Given the description of an element on the screen output the (x, y) to click on. 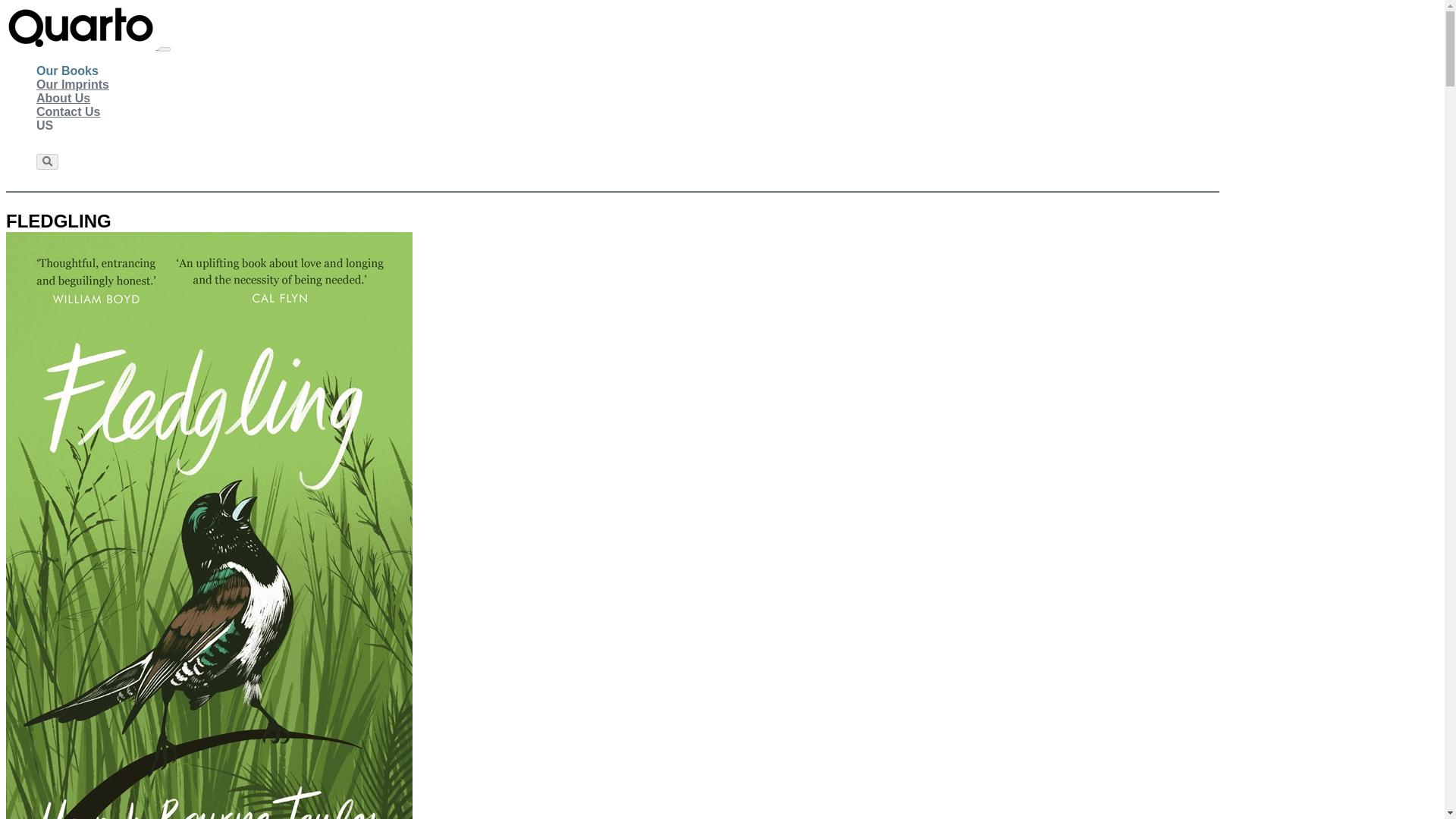
US (44, 125)
Contact Us (68, 111)
Our Books (67, 70)
About Us (63, 98)
Our Imprints (72, 84)
